Given the description of an element on the screen output the (x, y) to click on. 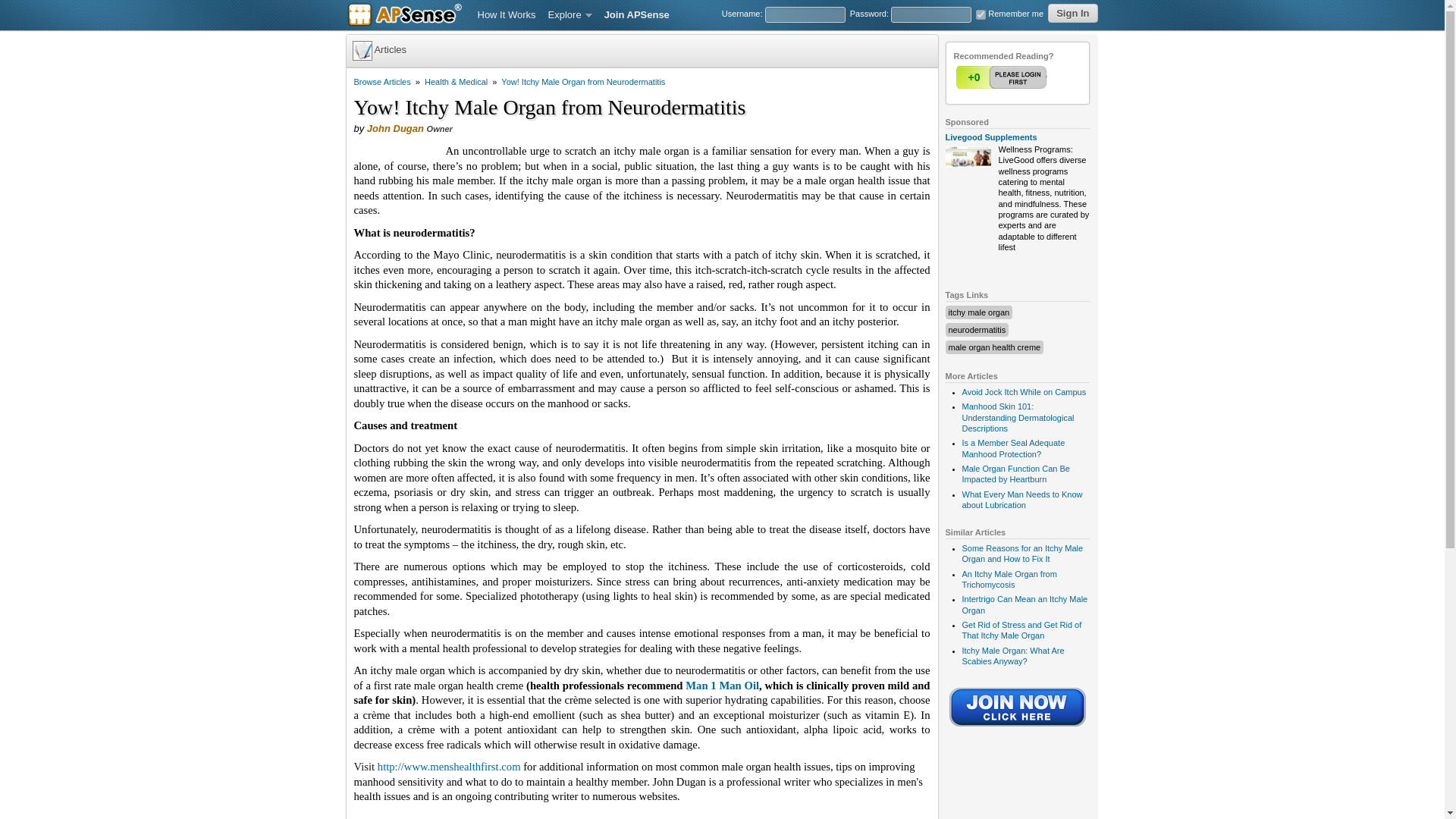
Browse Articles (381, 81)
-1 (1031, 77)
Is a Member Seal Adequate Manhood Protection? (1012, 447)
Join APSense (636, 15)
Explore (569, 15)
Intertrigo Can Mean an Itchy Male Organ (1023, 604)
itchy male organ (978, 311)
Vote Up (1002, 77)
neurodermatitis (976, 329)
1 (1002, 77)
Manhood Skin 101: Understanding Dermatological Descriptions (1017, 417)
male organ health creme (994, 347)
Yow! Itchy Male Organ from Neurodermatitis (582, 81)
John Dugan (394, 128)
Join APSense Social Network (1017, 727)
